Given the description of an element on the screen output the (x, y) to click on. 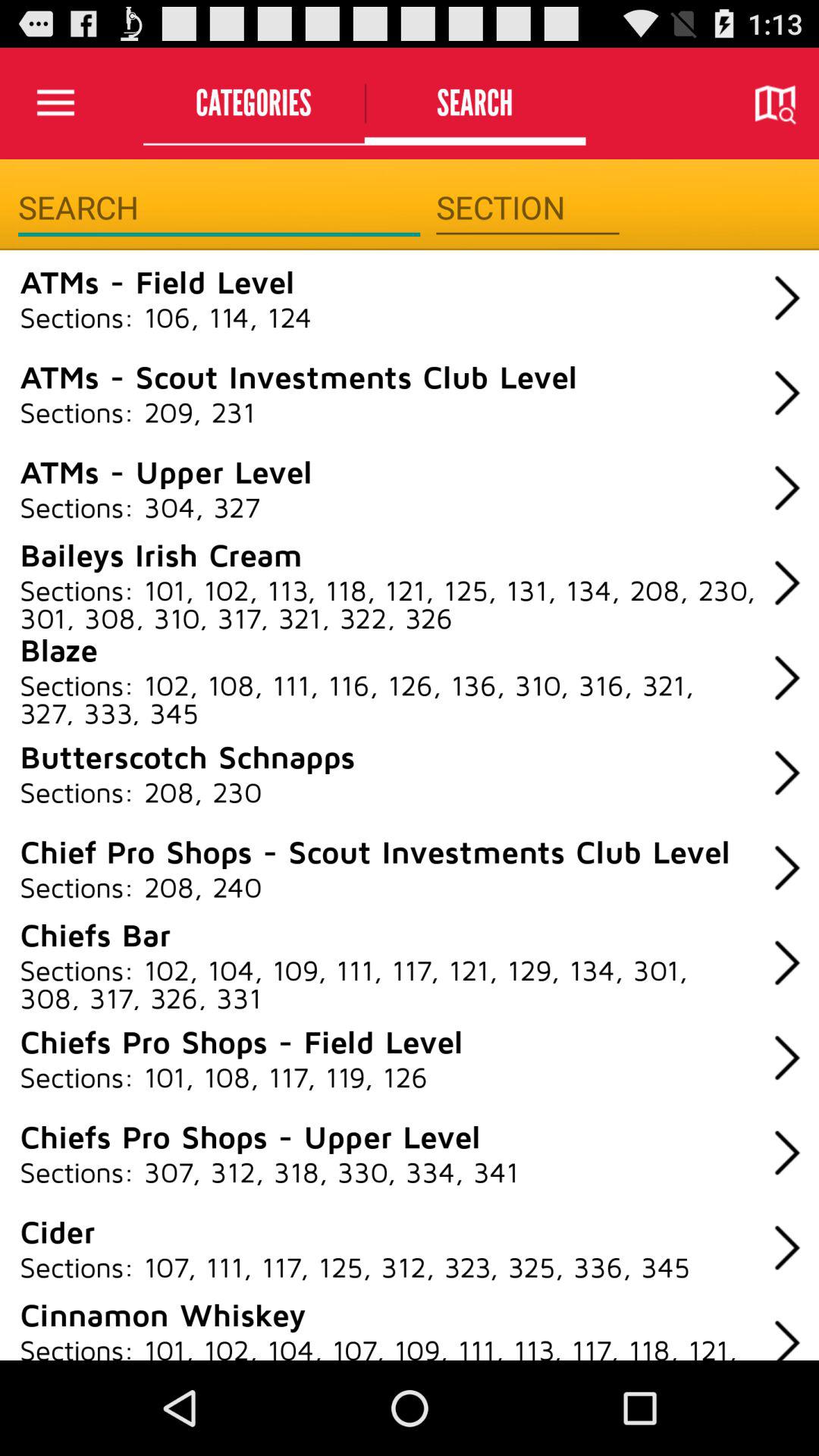
tap the icon above the sections 101 102 (160, 554)
